Given the description of an element on the screen output the (x, y) to click on. 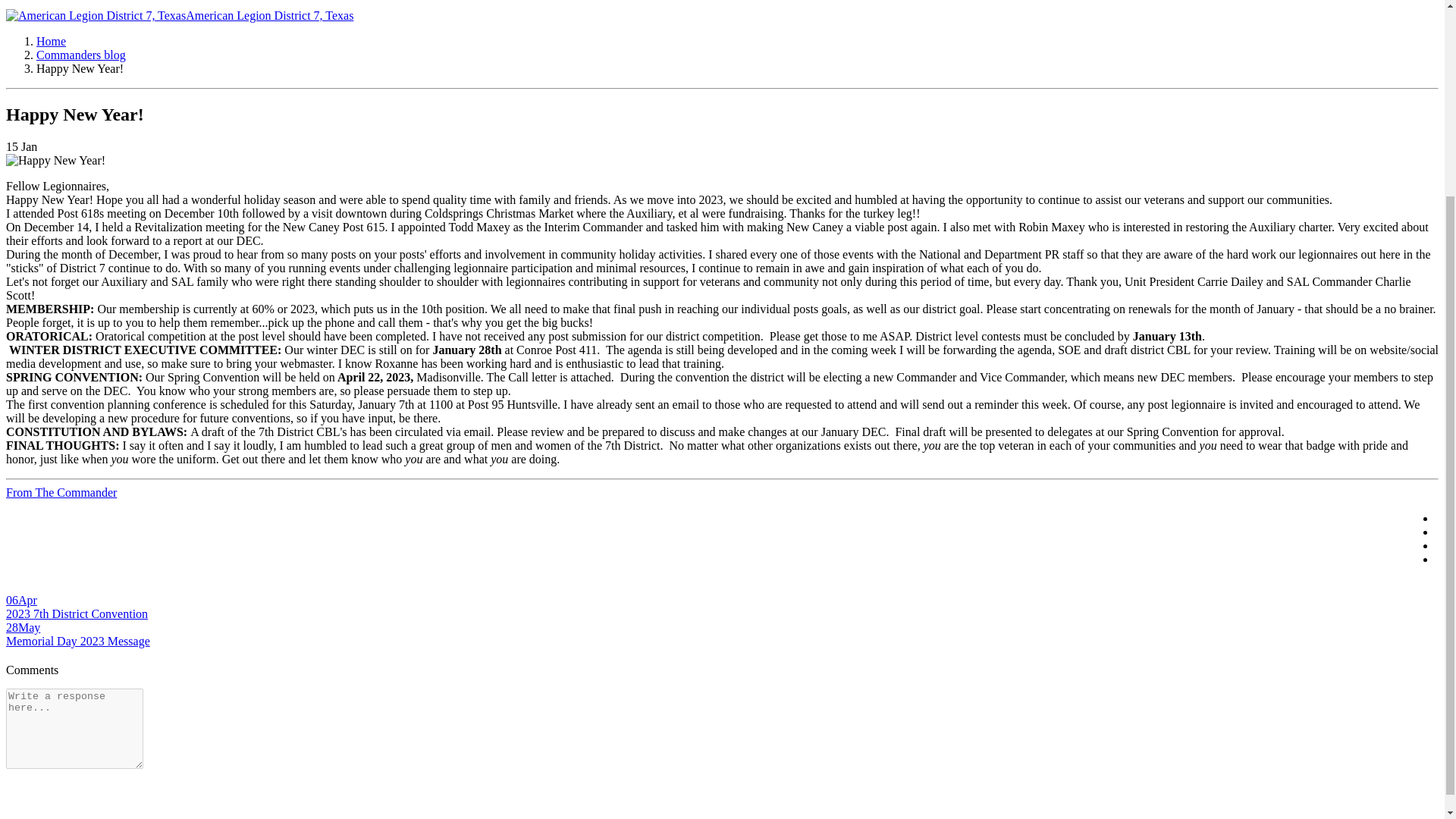
Commanders blog (80, 54)
From The Commander (60, 492)
Home (50, 41)
American Legion District 7, Texas (179, 15)
